Given the description of an element on the screen output the (x, y) to click on. 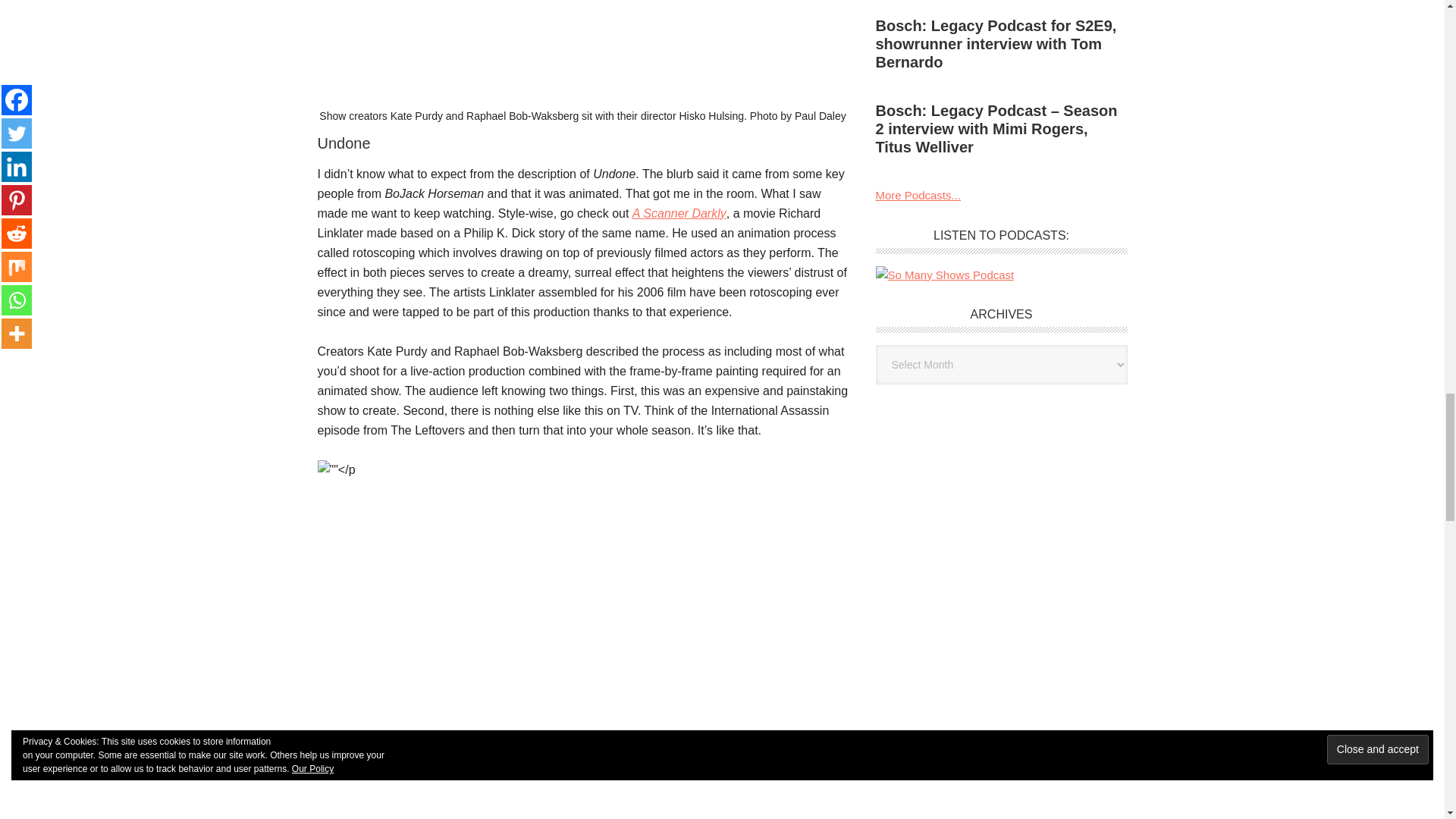
A Scanner Darkly (678, 213)
